Given the description of an element on the screen output the (x, y) to click on. 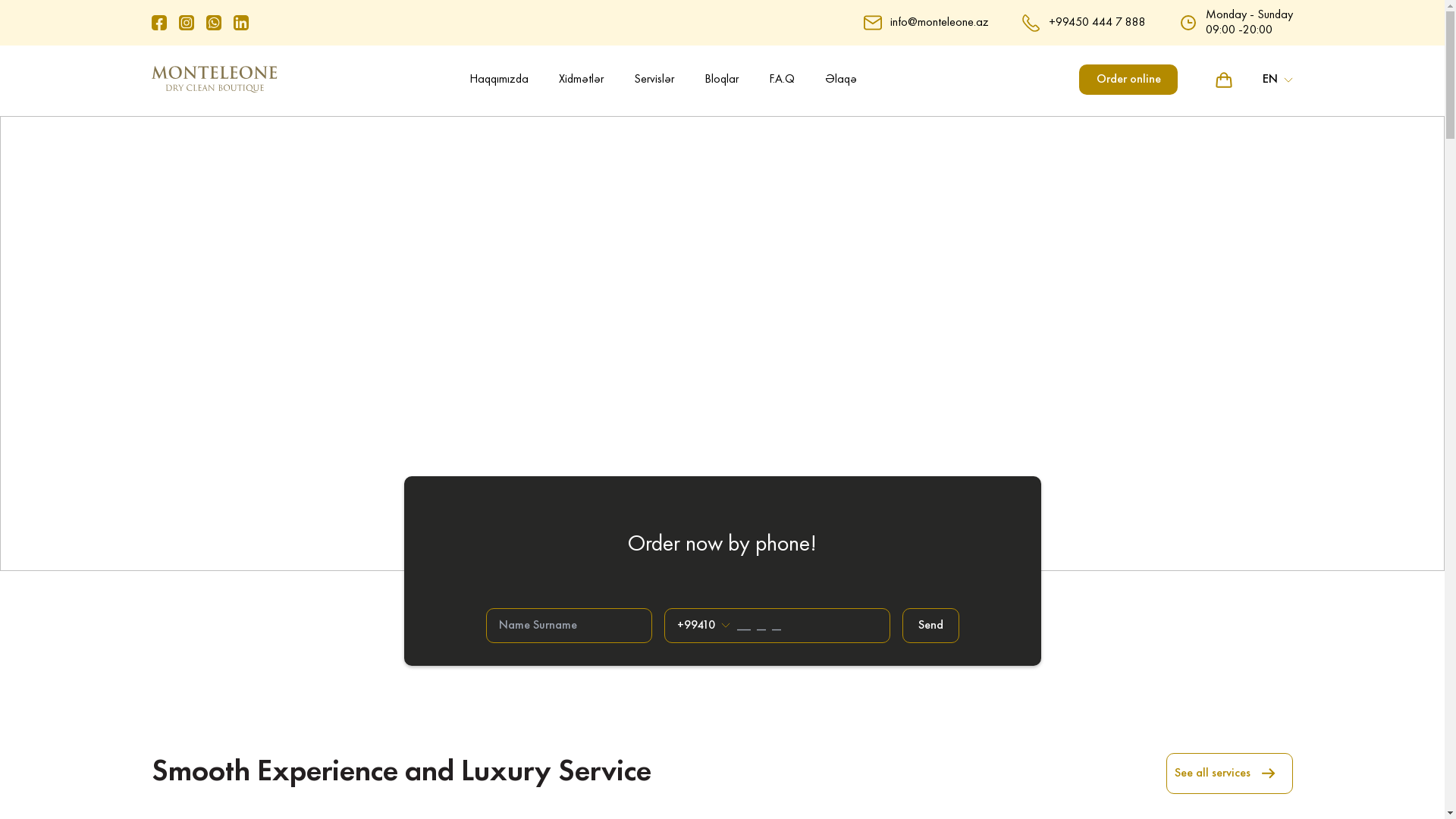
Send Element type: text (930, 625)
info@monteleone.az Element type: text (939, 22)
F.A.Q Element type: text (781, 79)
See all services Element type: text (1229, 773)
Order online Element type: text (1128, 79)
+99450 444 7 888 Element type: text (1096, 22)
Bloqlar Element type: text (721, 79)
